Given the description of an element on the screen output the (x, y) to click on. 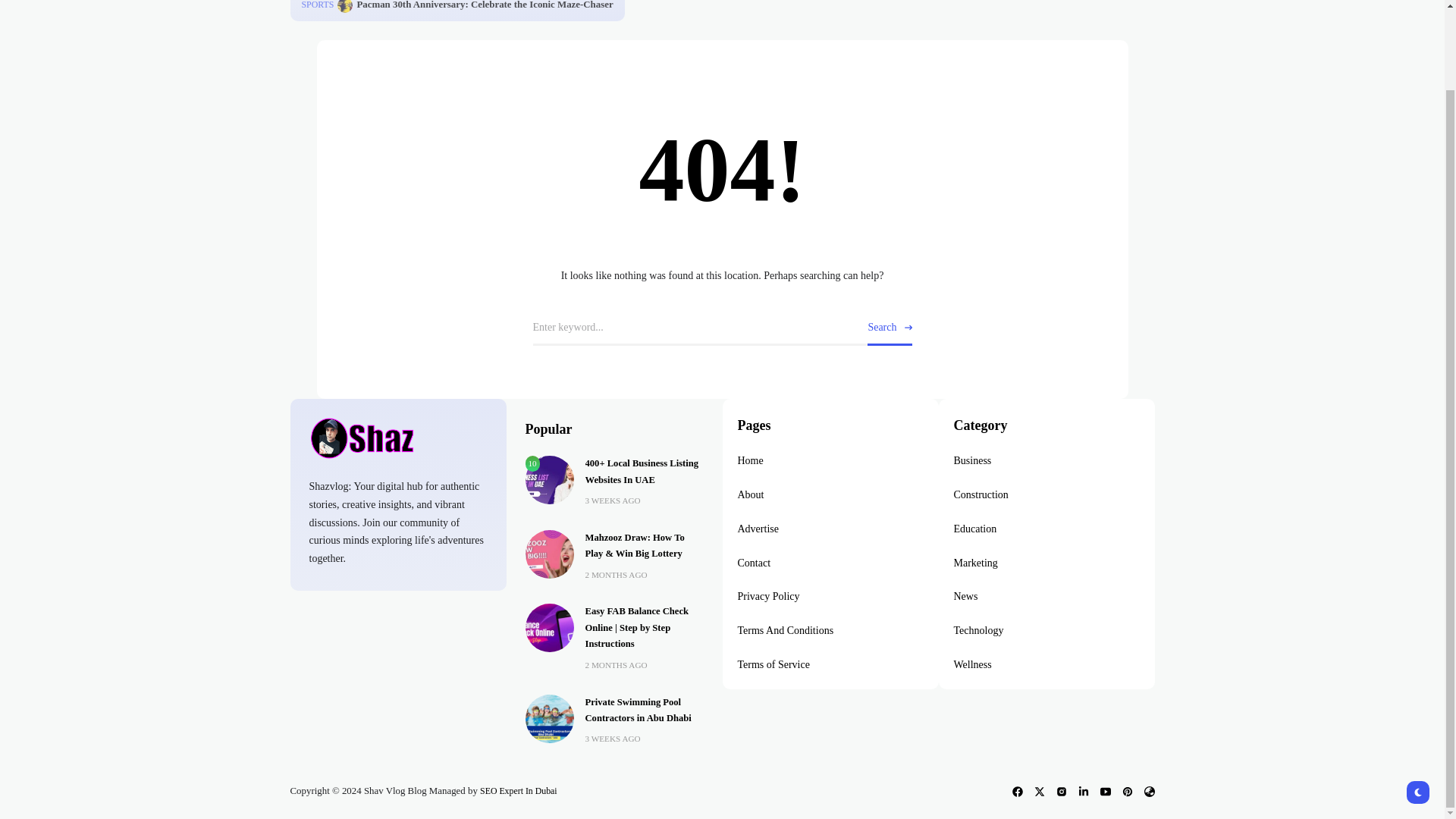
Shav Vlog Blog (397, 437)
Pacman 30th Anniversary: Celebrate the Iconic Maze-Chaser (484, 4)
Pacman 30th Anniversary: Celebrate the Iconic Maze-Chaser (344, 6)
Private Swimming Pool Contractors in Abu Dhabi (548, 717)
facebook (1016, 791)
SPORTS (317, 6)
